Given the description of an element on the screen output the (x, y) to click on. 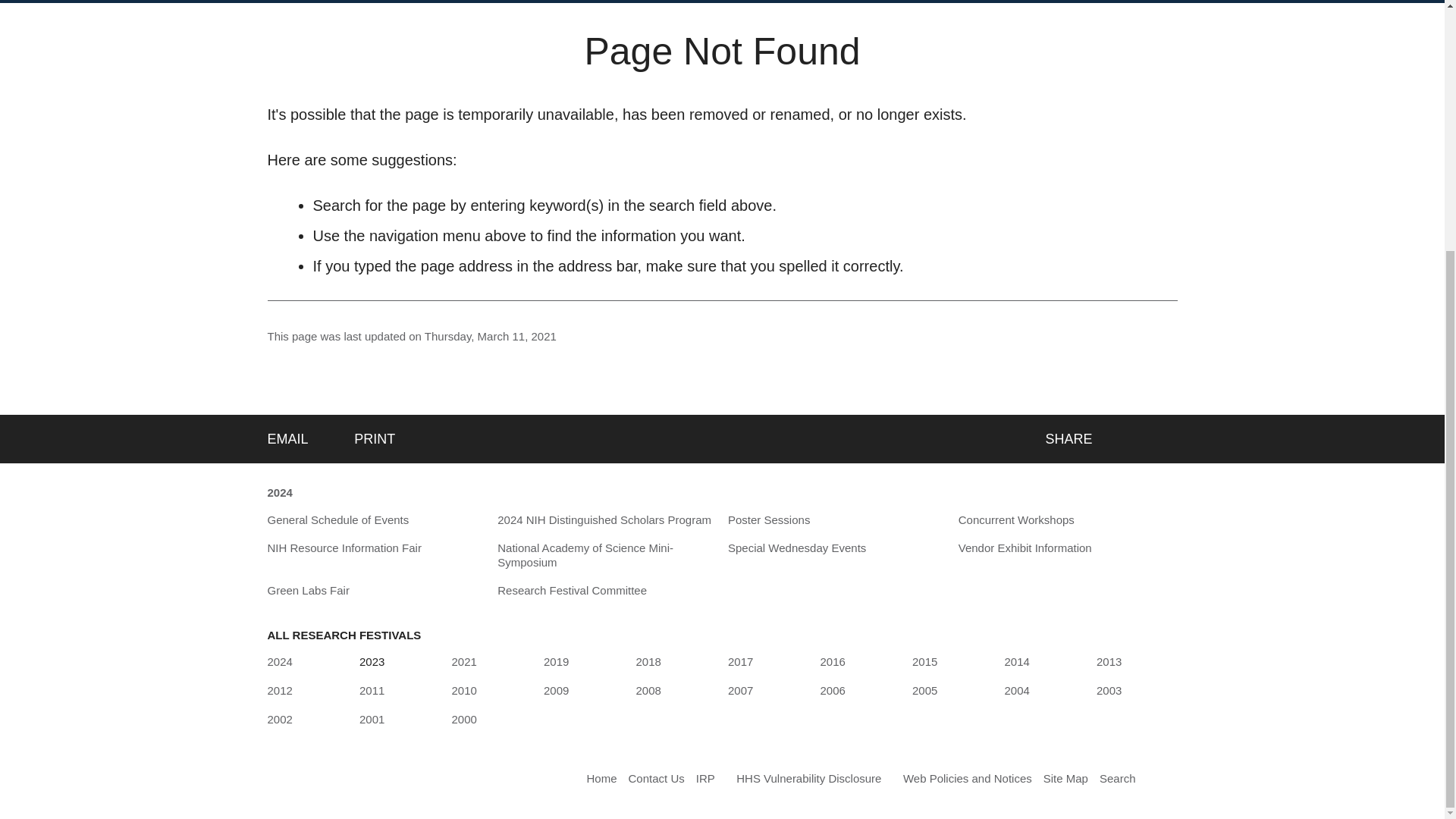
2024 NIH Distinguished Scholars Program (604, 520)
National Academy of Science Mini-Symposium  (606, 554)
Special Wednesday Events (797, 548)
2024 NIH Research Festival (279, 661)
Concurrent Workshops (1016, 520)
2024 NIH Research Festival (279, 492)
